Given the description of an element on the screen output the (x, y) to click on. 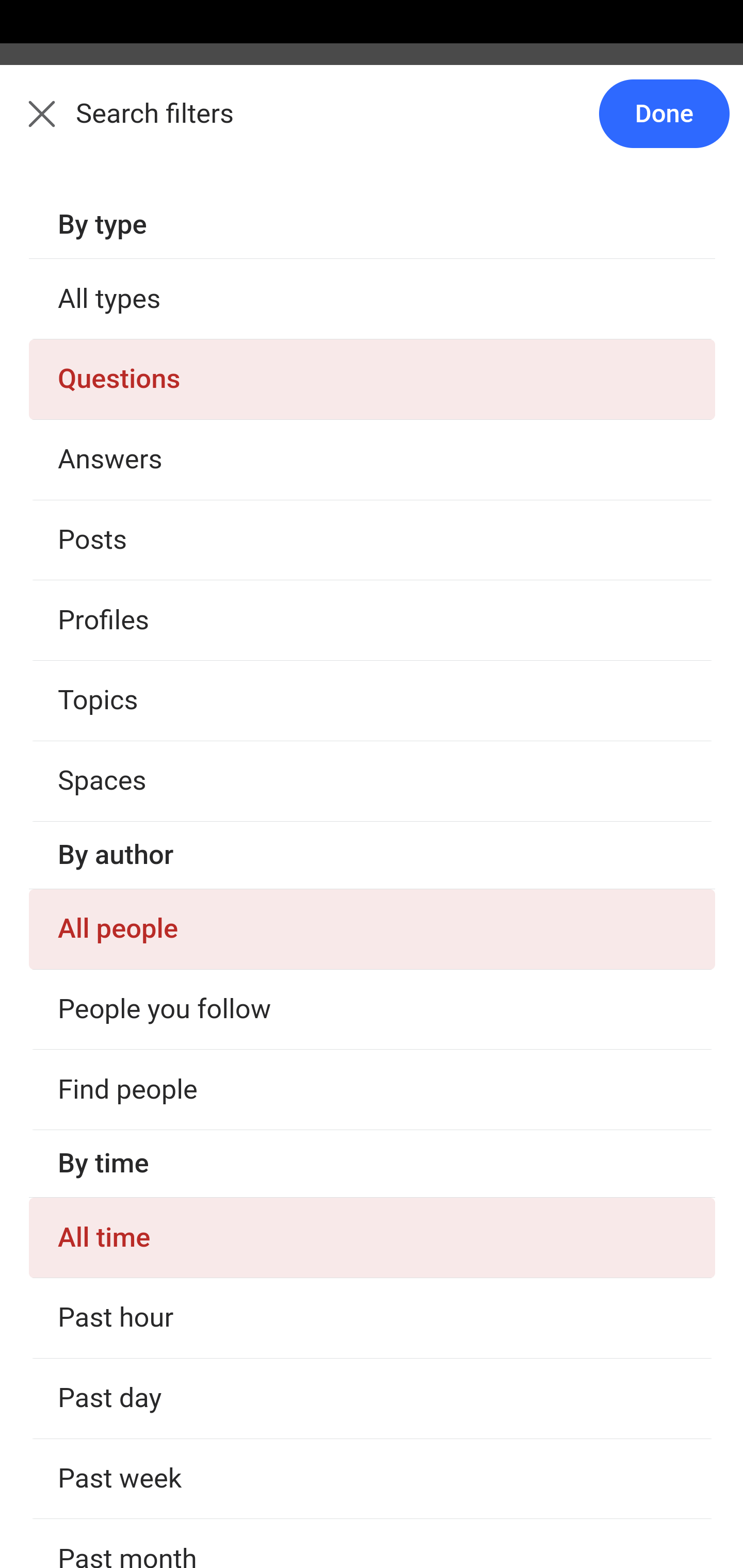
Back Search (371, 125)
Answer (125, 387)
Answer (125, 626)
Profile photo for Bas Leijser (61, 1411)
